Given the description of an element on the screen output the (x, y) to click on. 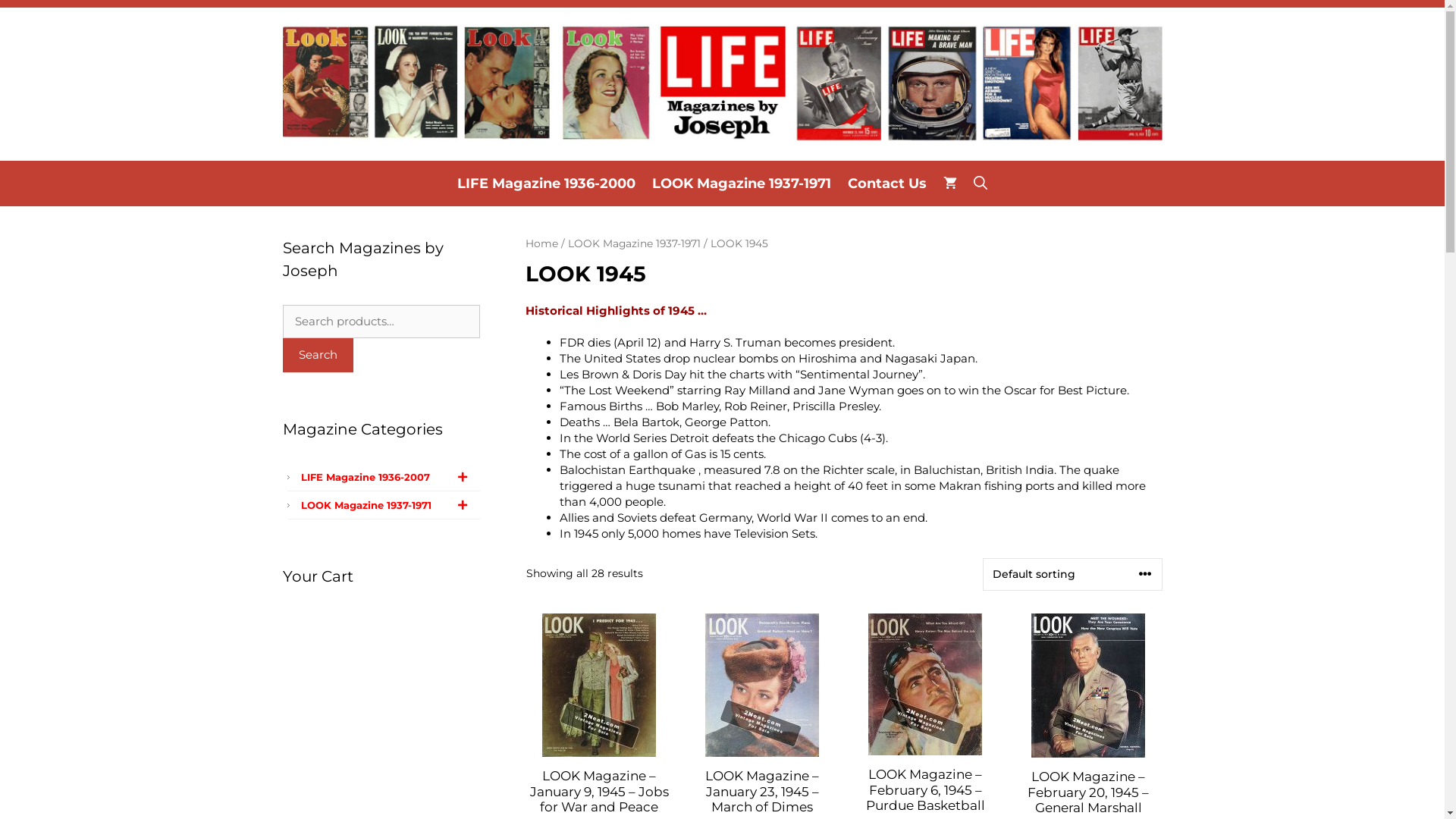
LOOK Magazine 1937-1971 Element type: text (633, 243)
LOOK Magazine 1937-1971 Element type: text (388, 504)
LIFE Magazine 1936-2007 Element type: text (388, 476)
Search Element type: text (317, 355)
View your shopping cart Element type: hover (950, 183)
LIFE Magazine 1936-2000 Element type: text (545, 183)
Home Element type: text (540, 243)
Contact Us Element type: text (887, 183)
LOOK Magazine 1937-1971 Element type: text (741, 183)
